Given the description of an element on the screen output the (x, y) to click on. 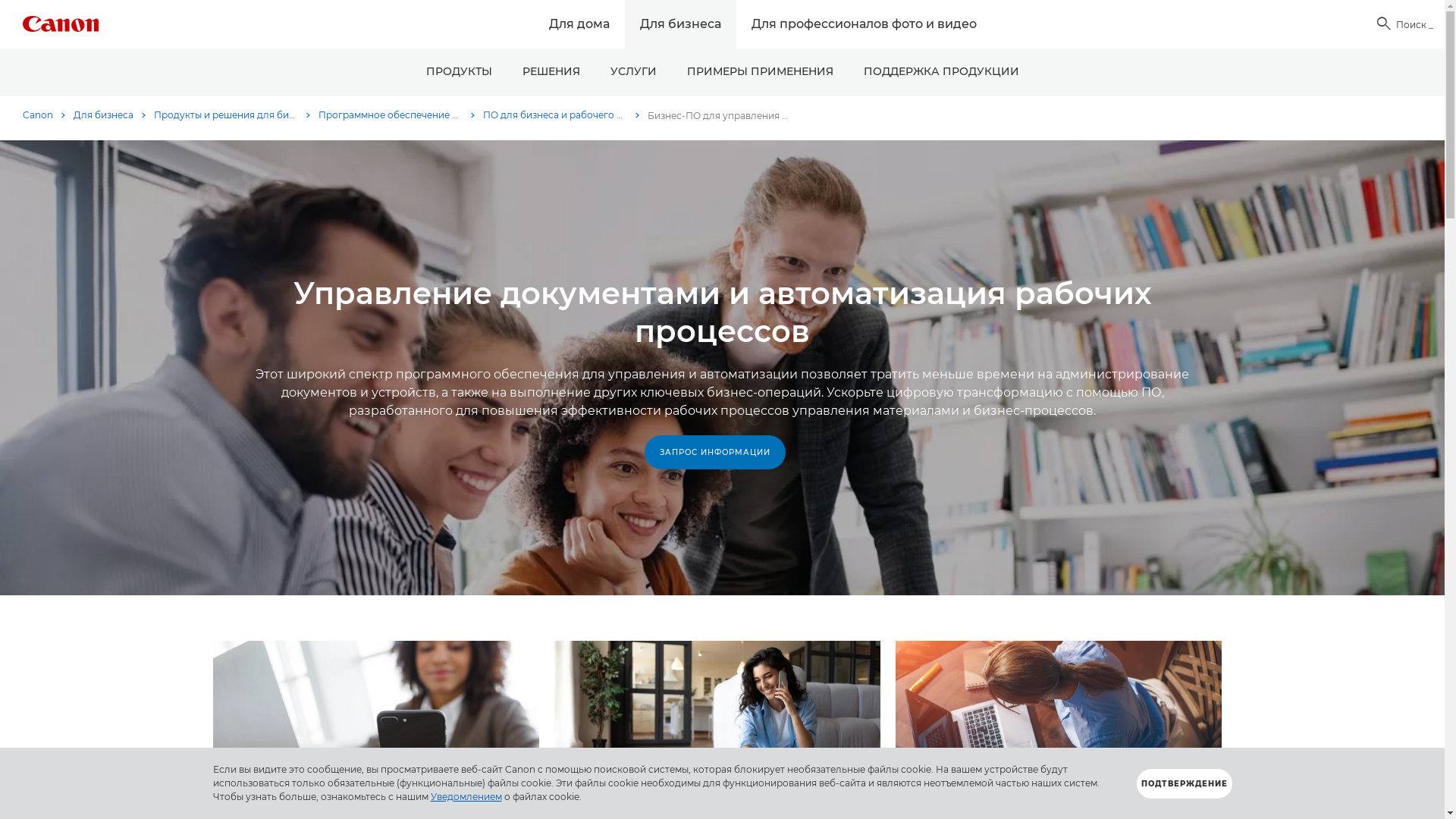
Canon Element type: text (43, 114)
Canon Logo Element type: text (60, 23)
